Given the description of an element on the screen output the (x, y) to click on. 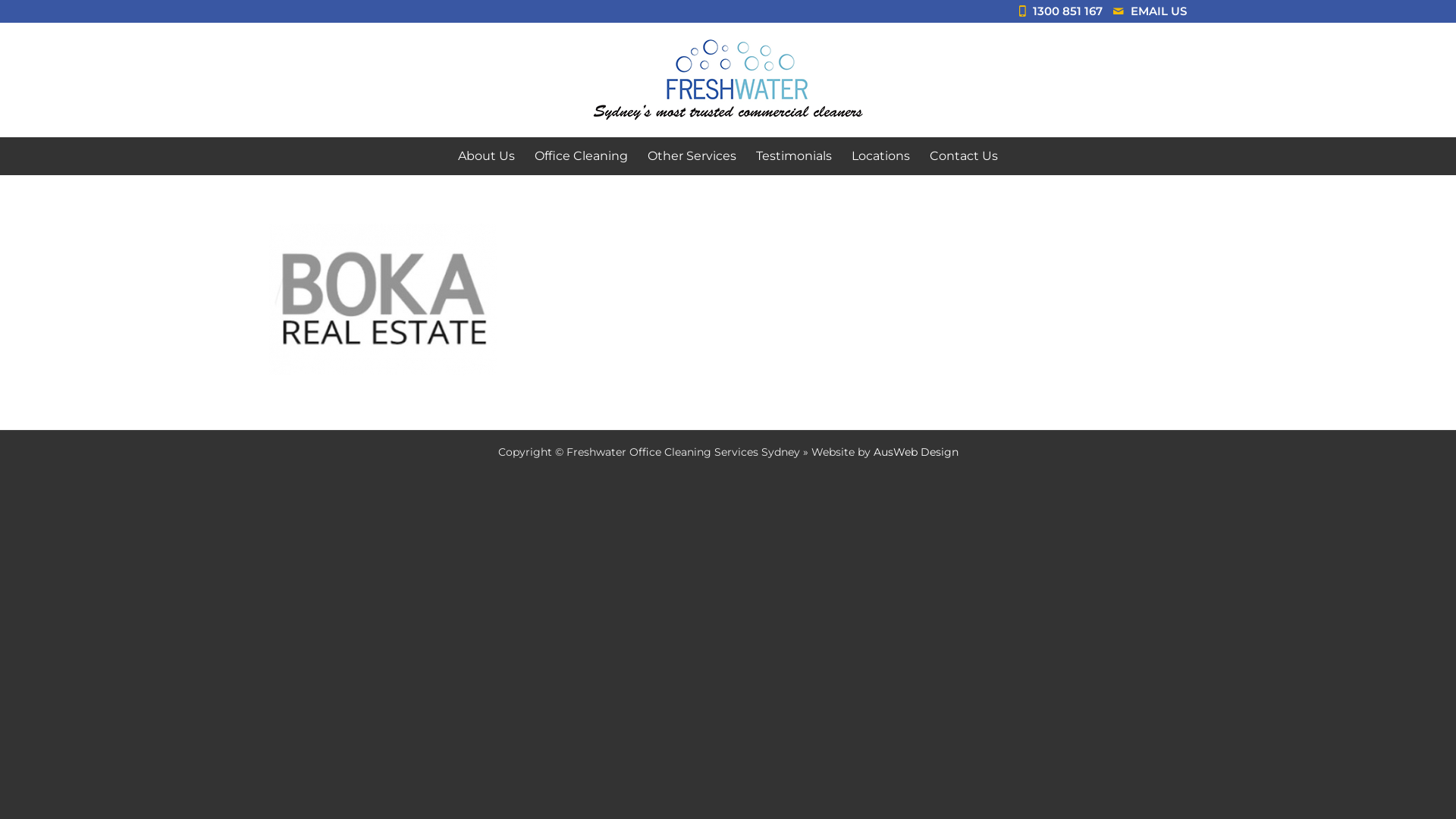
fwc Element type: hover (727, 79)
1300 851 167 Element type: text (1071, 10)
Other Services Element type: text (691, 156)
Testimonials Element type: text (793, 156)
About Us Element type: text (486, 156)
Office Cleaning Element type: text (580, 156)
EMAIL US Element type: text (1158, 10)
Contact Us Element type: text (963, 156)
Locations Element type: text (880, 156)
AusWeb Design Element type: text (915, 451)
